Given the description of an element on the screen output the (x, y) to click on. 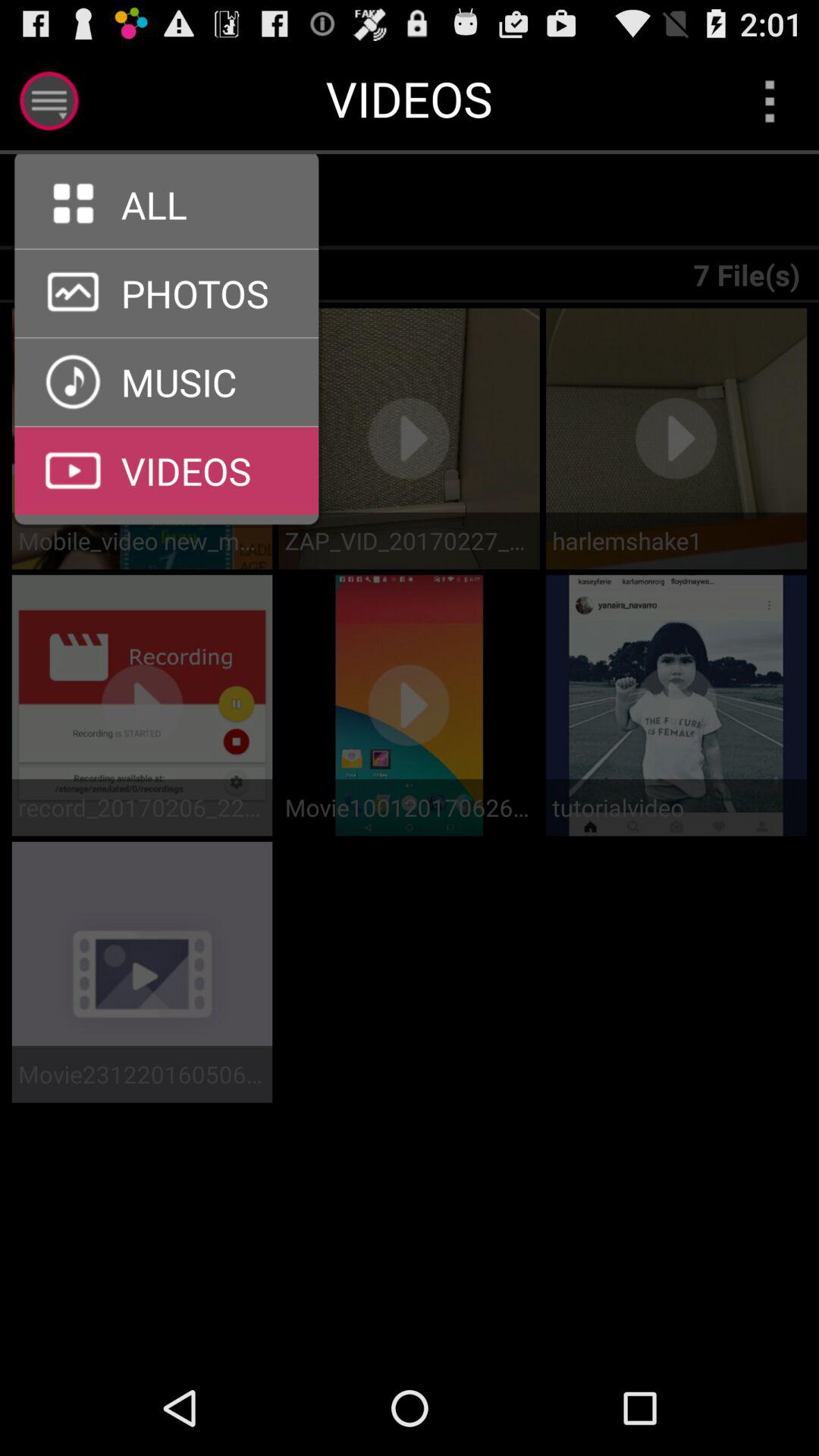
select all items (176, 201)
